Given the description of an element on the screen output the (x, y) to click on. 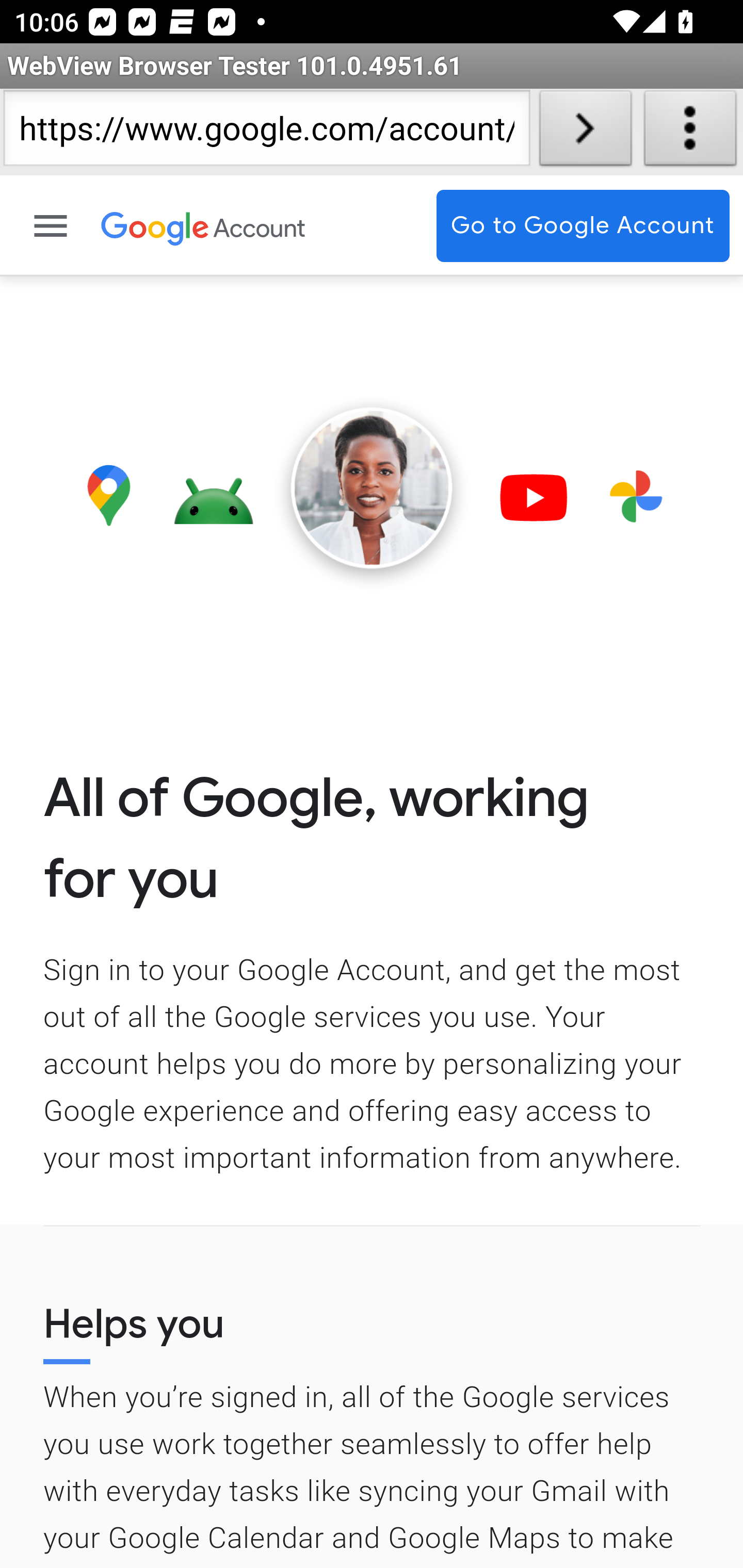
https://www.google.com/account/about/ (266, 132)
Load URL (585, 132)
About WebView (690, 132)
Google logo (156, 226)
Google Account Account (259, 226)
Open the navigation drawer (51, 226)
Go to your Google Account Go to Google Account (582, 226)
